Given the description of an element on the screen output the (x, y) to click on. 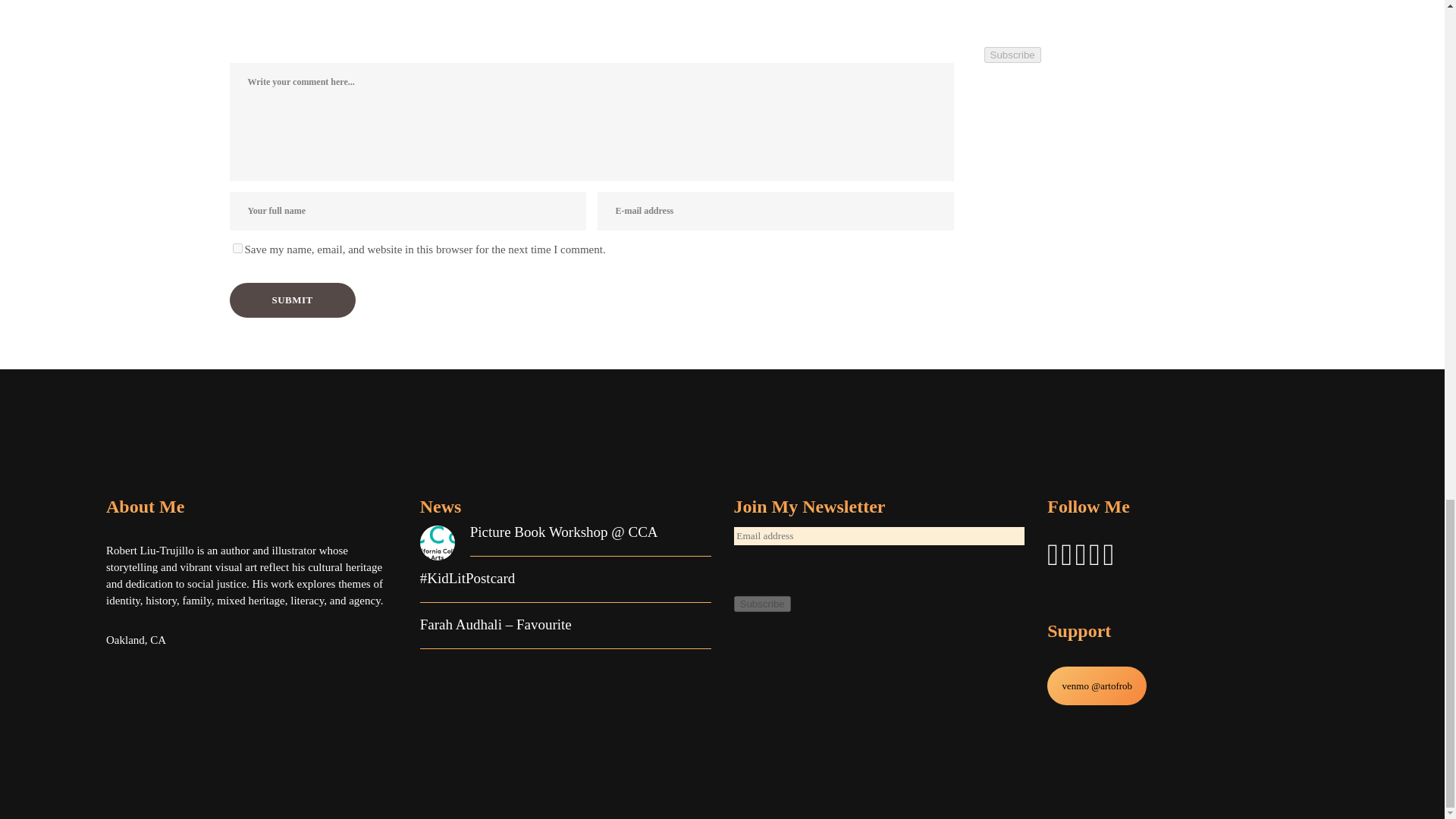
Submit (291, 300)
yes (236, 248)
